Given the description of an element on the screen output the (x, y) to click on. 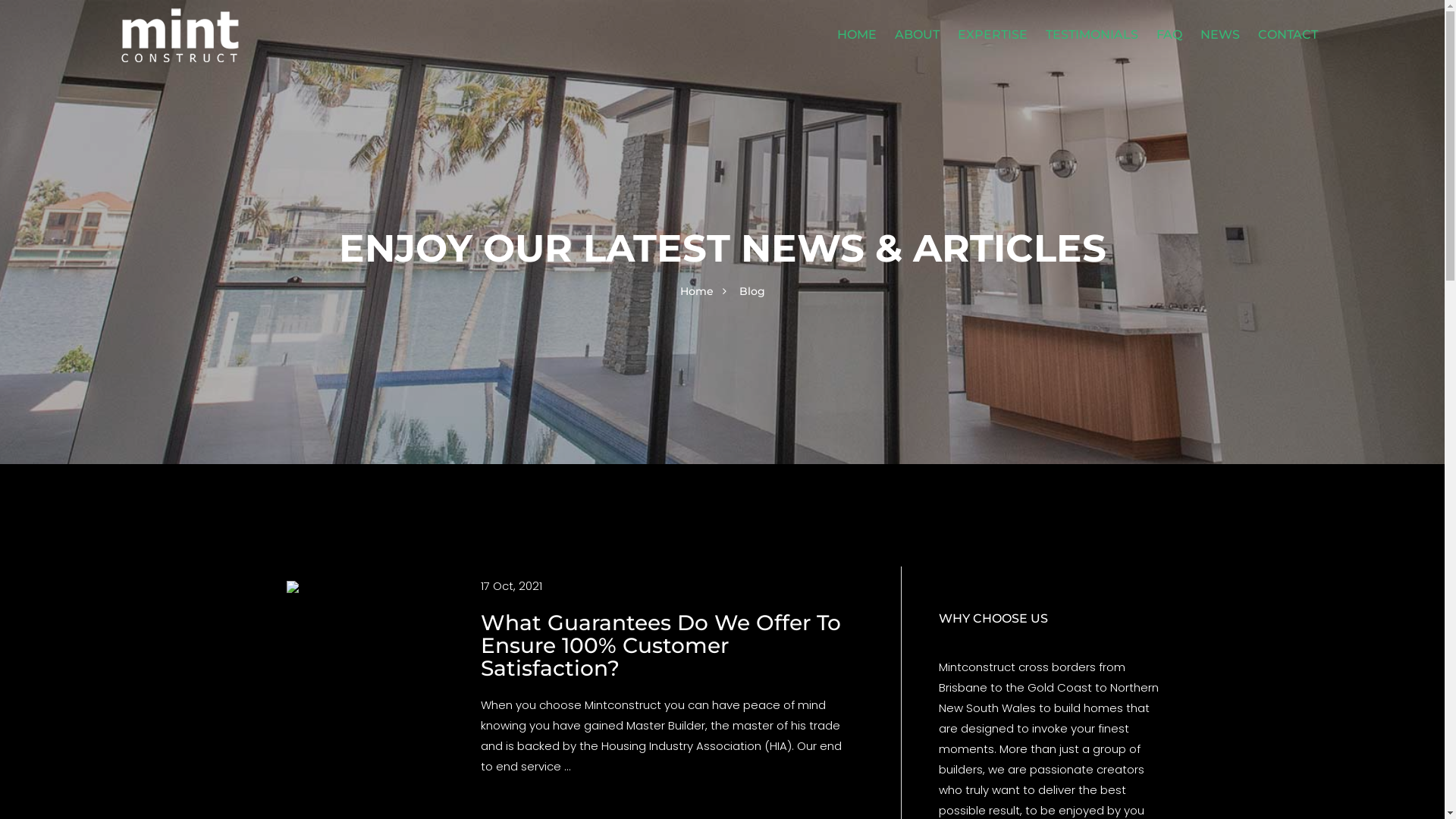
TESTIMONIALS Element type: text (1091, 34)
CONTACT Element type: text (1287, 34)
ABOUT Element type: text (916, 34)
Home Element type: text (695, 291)
FAQ Element type: text (1169, 34)
EXPERTISE Element type: text (992, 34)
HOME Element type: text (856, 34)
NEWS Element type: text (1219, 34)
